Given the description of an element on the screen output the (x, y) to click on. 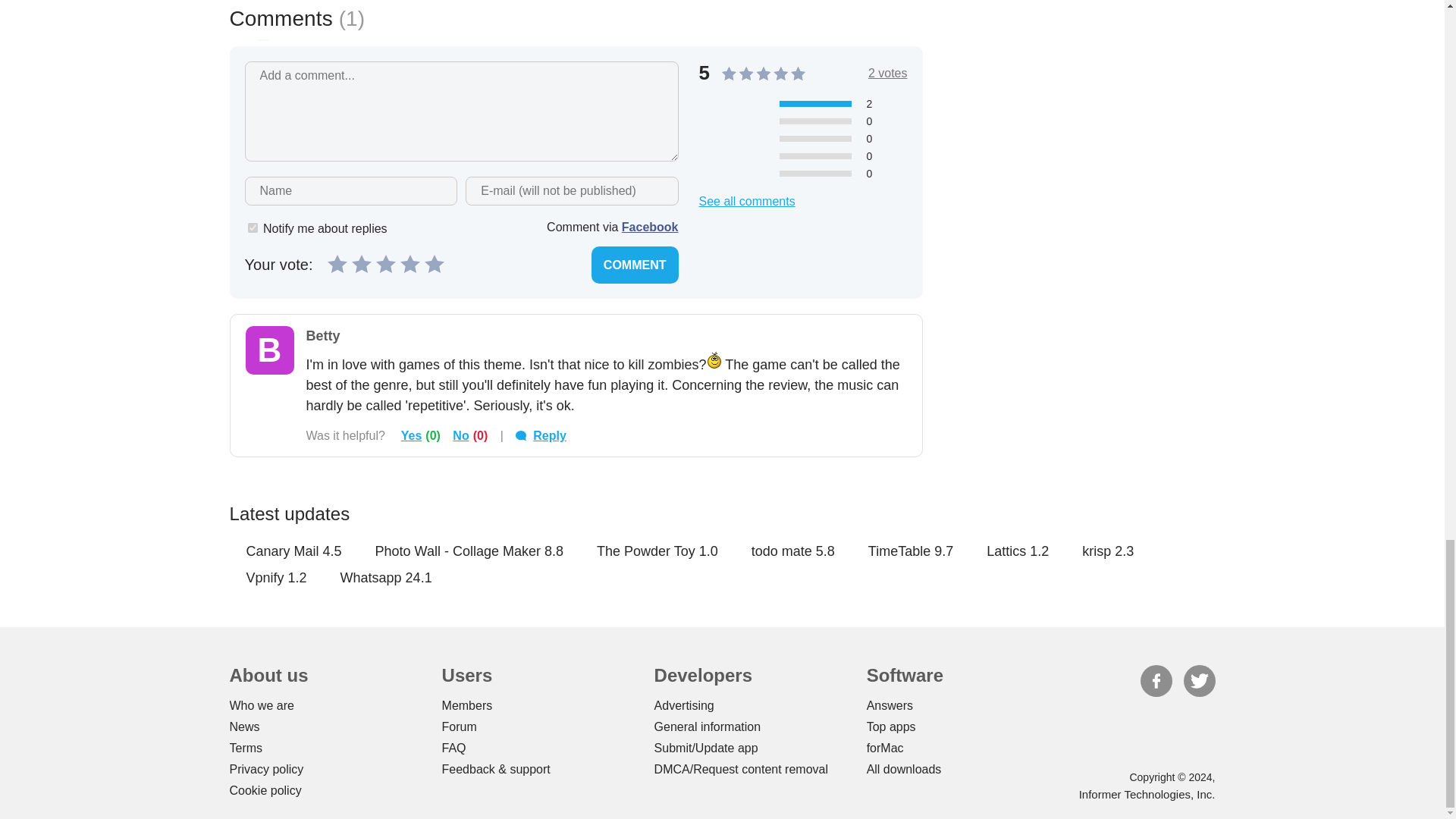
1 (336, 262)
Comment (634, 264)
3 (385, 262)
2 votes (887, 72)
2 (361, 262)
5 (434, 262)
4 (409, 262)
1 (252, 227)
